Given the description of an element on the screen output the (x, y) to click on. 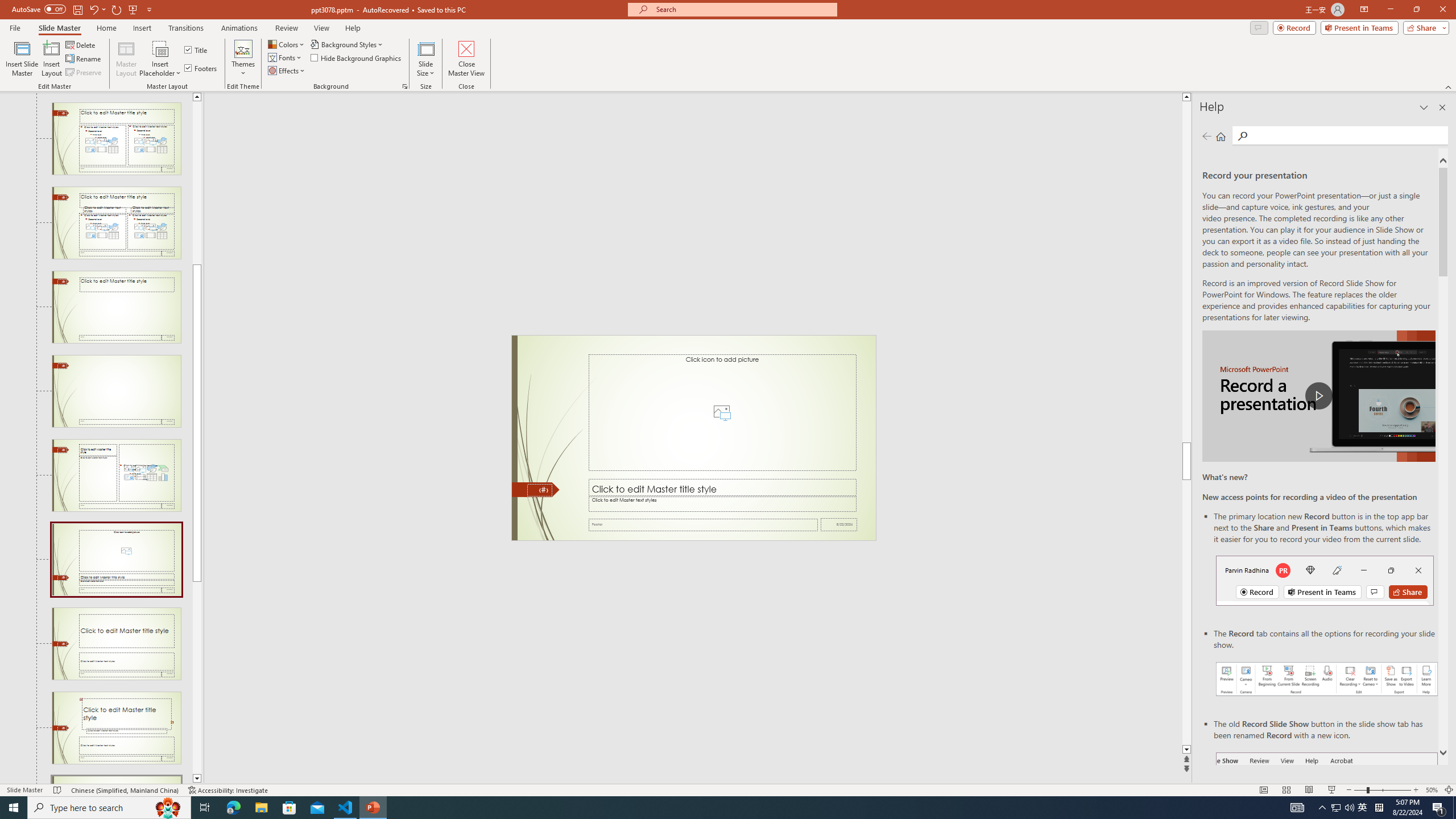
Page down (197, 677)
Content (160, 48)
Search (1241, 136)
Record your presentations screenshot one (1326, 678)
Line down (197, 778)
Restore Down (1416, 9)
Effects (287, 69)
Page up (197, 182)
Slide Quote with Caption Layout: used by no slides (116, 728)
